Given the description of an element on the screen output the (x, y) to click on. 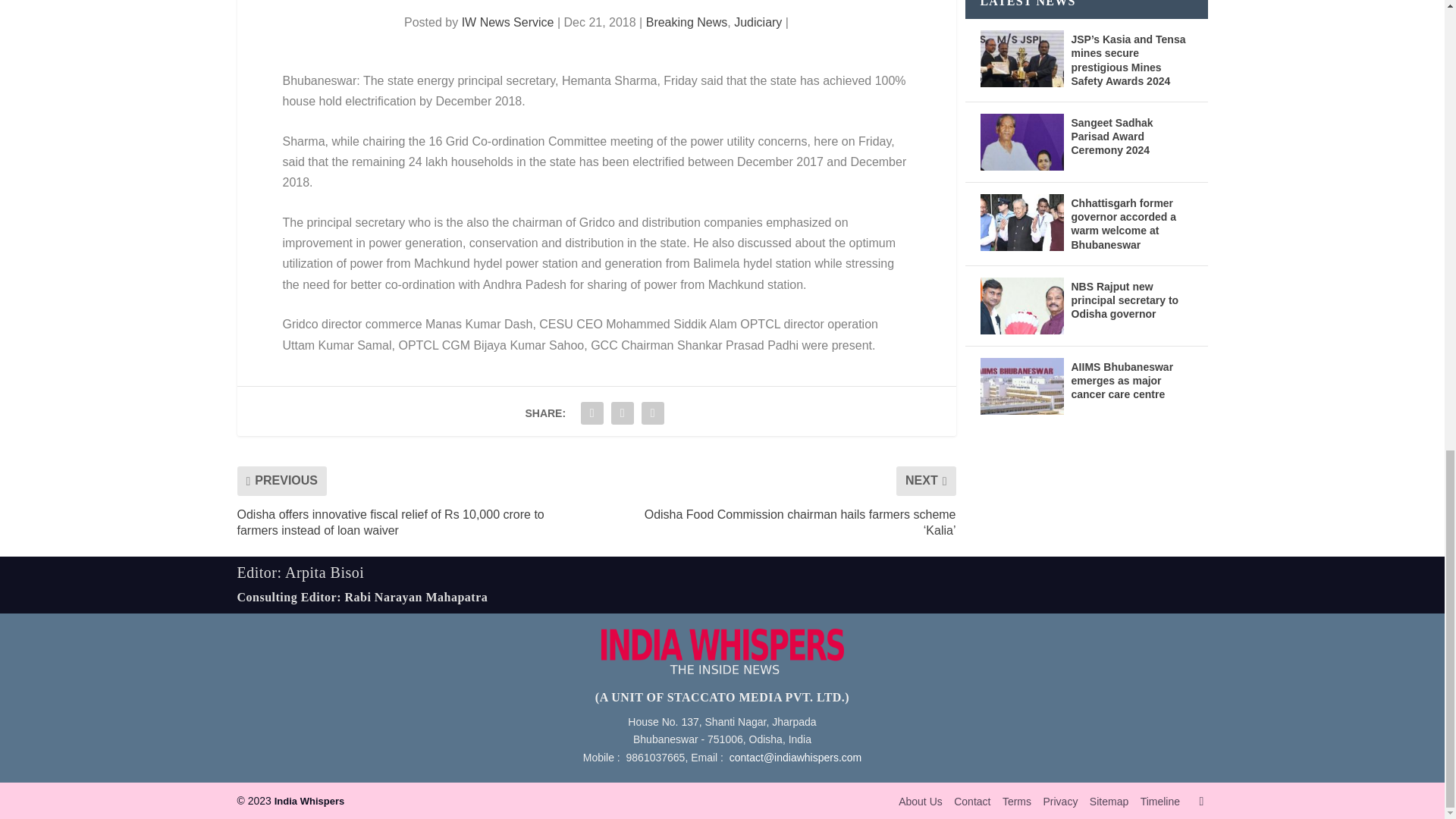
Sangeet Sadhak Parisad Award Ceremony 2024 (1020, 141)
Posts by IW News Service (507, 21)
